Given the description of an element on the screen output the (x, y) to click on. 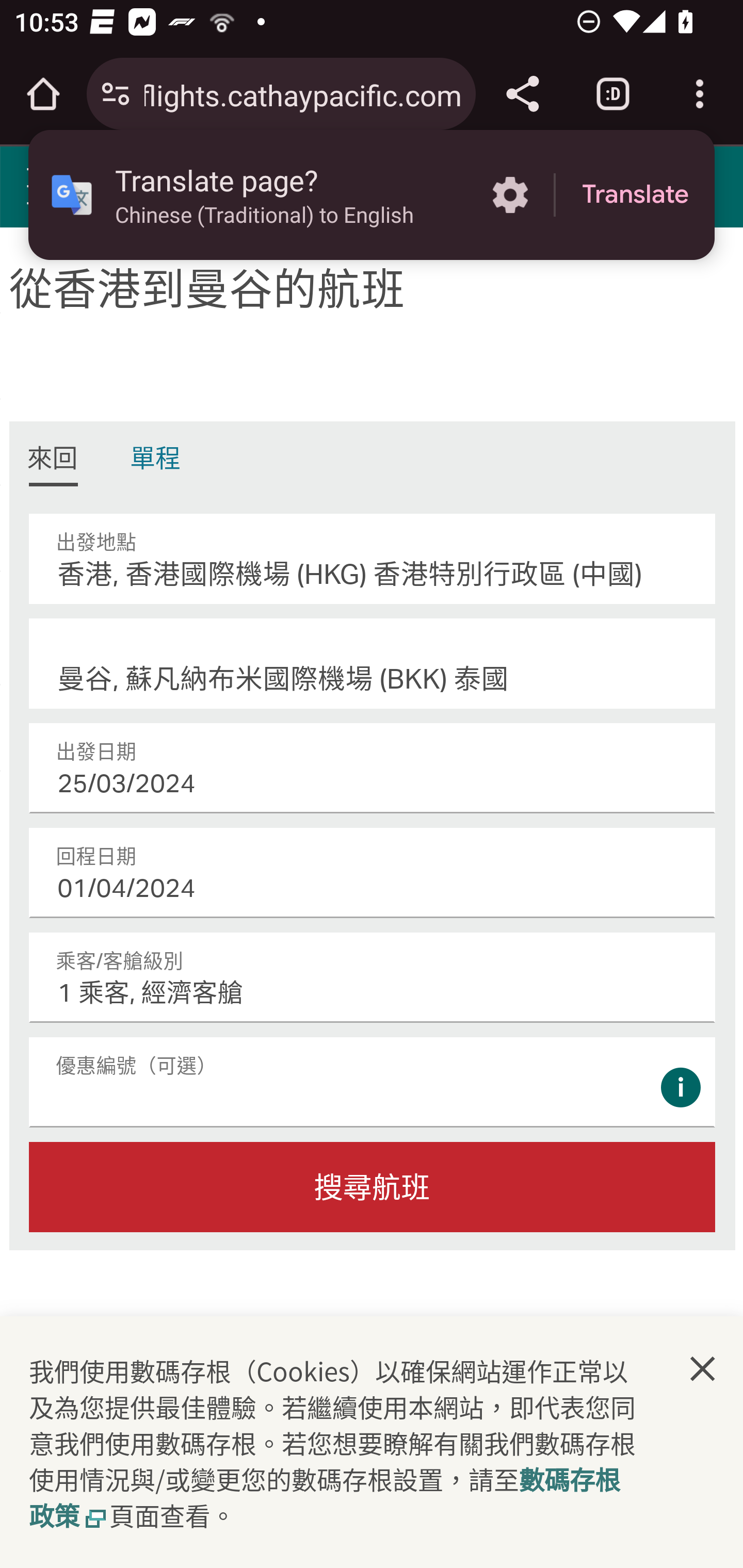
Open the home page (43, 93)
Connection is secure (115, 93)
Share (522, 93)
Switch or close tabs (612, 93)
Customize and control Google Chrome (699, 93)
Translate (634, 195)
More options in the Translate page? (509, 195)
出發日期 (372, 767)
回程日期 (372, 872)
乘客/客艙級別 (372, 977)
搜尋航班 (372, 1186)
關閉 (702, 1368)
數碼存根政策, 在新窗口中打开 數碼存根政策 (324, 1496)
